Given the description of an element on the screen output the (x, y) to click on. 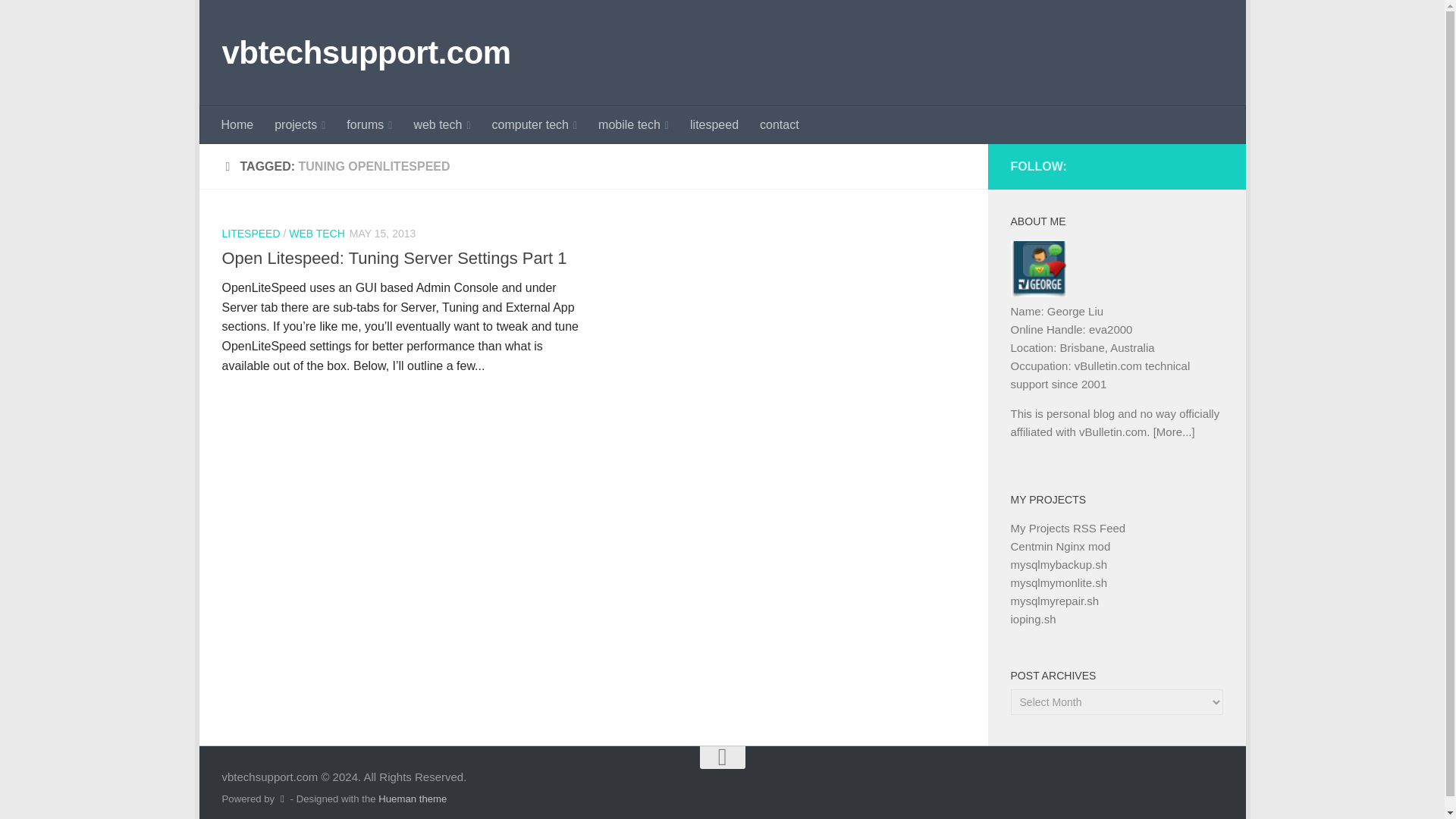
Skip to content (263, 20)
Permalink to Open Litespeed: Tuning Server Settings Part 1 (393, 257)
Multi-feature MySQL backup script (1058, 563)
Hueman theme (412, 798)
vbtechsupport.com (366, 53)
Home (237, 125)
Powered by WordPress (282, 798)
Centmin Nginx mod (1059, 545)
